Given the description of an element on the screen output the (x, y) to click on. 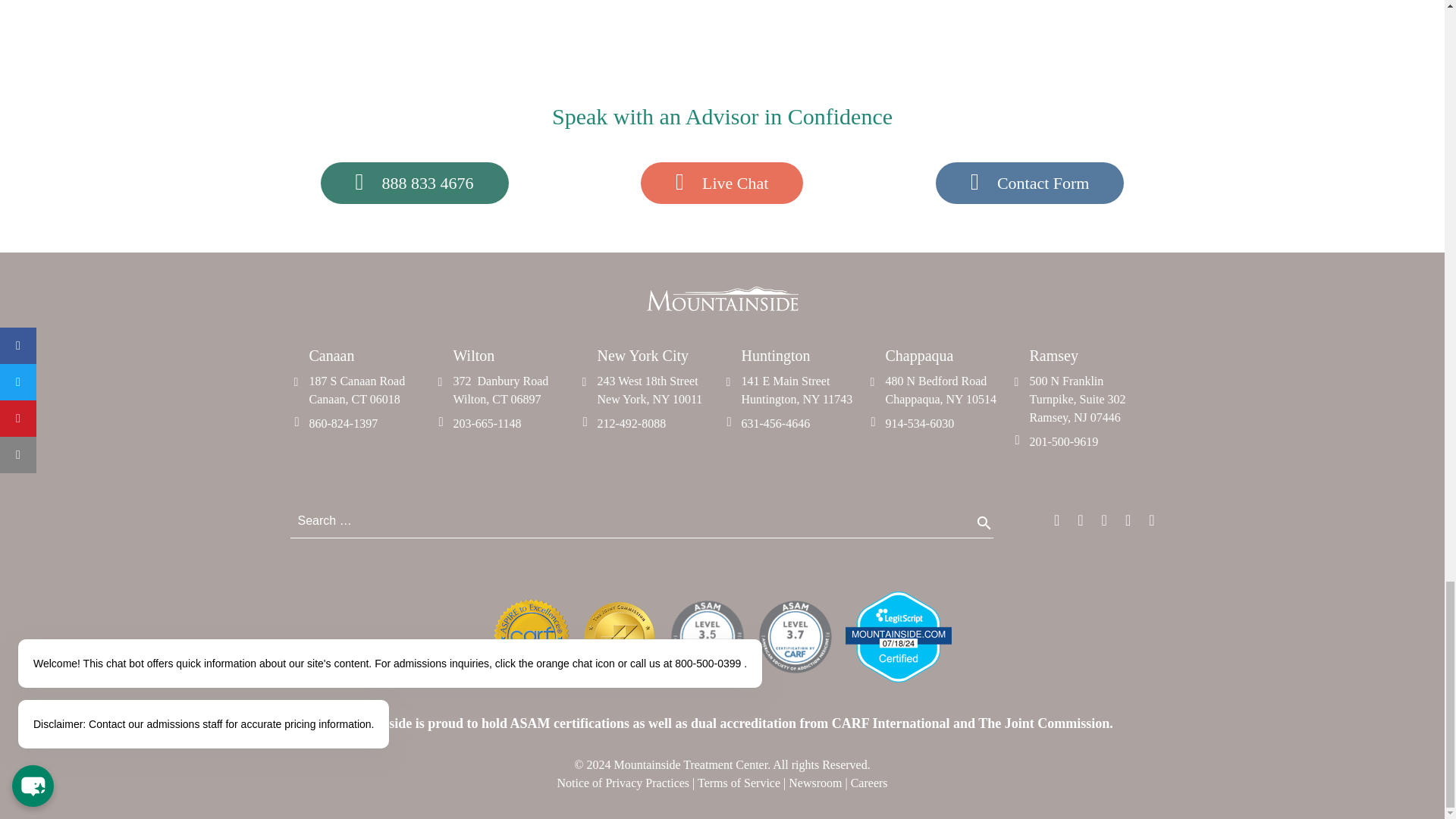
Verify LegitScript Approval (897, 677)
Search (985, 530)
Search (985, 530)
